Given the description of an element on the screen output the (x, y) to click on. 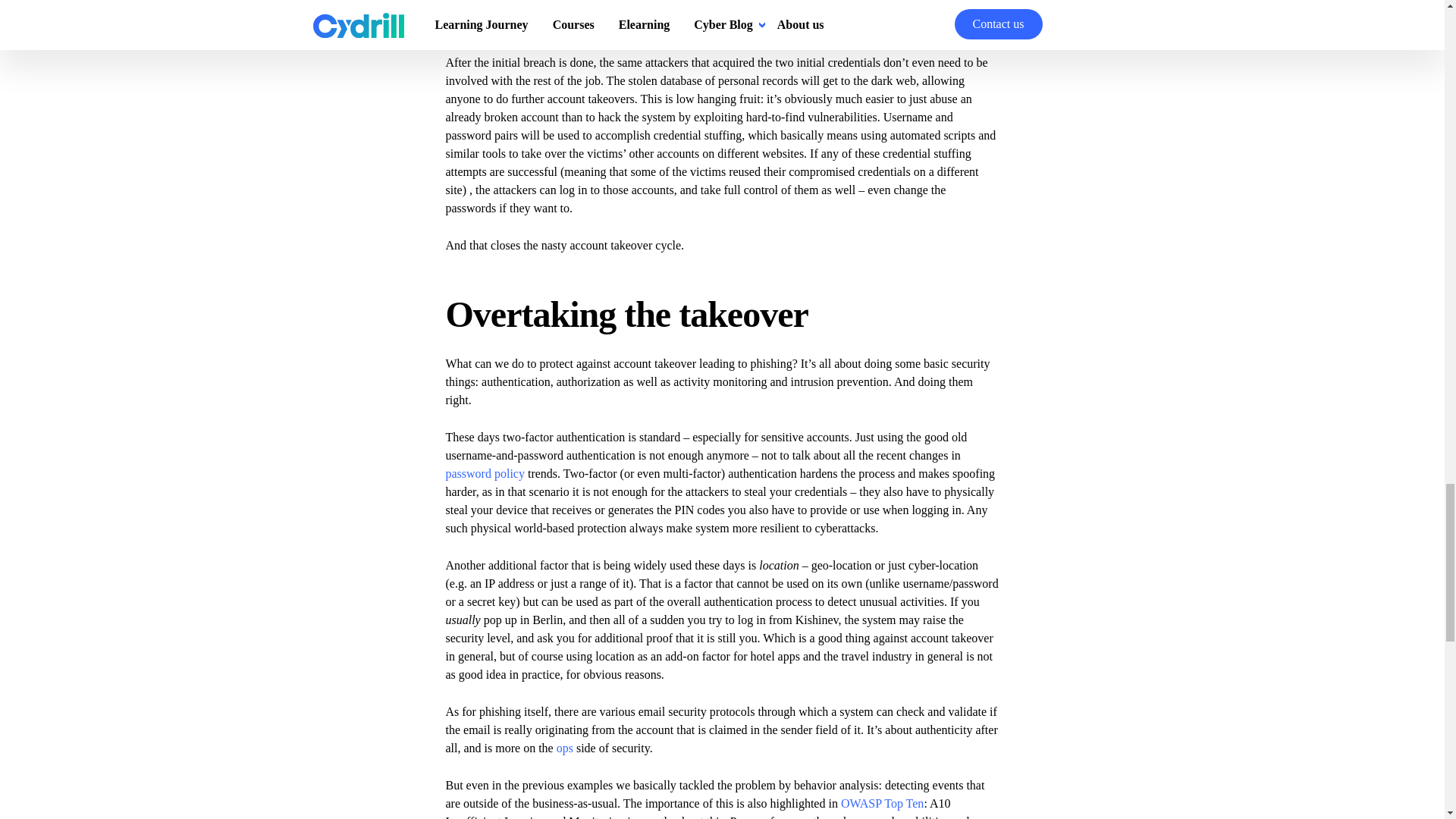
password policy (484, 472)
OWASP Top Ten (882, 802)
ops (564, 748)
spoofing (785, 24)
